Given the description of an element on the screen output the (x, y) to click on. 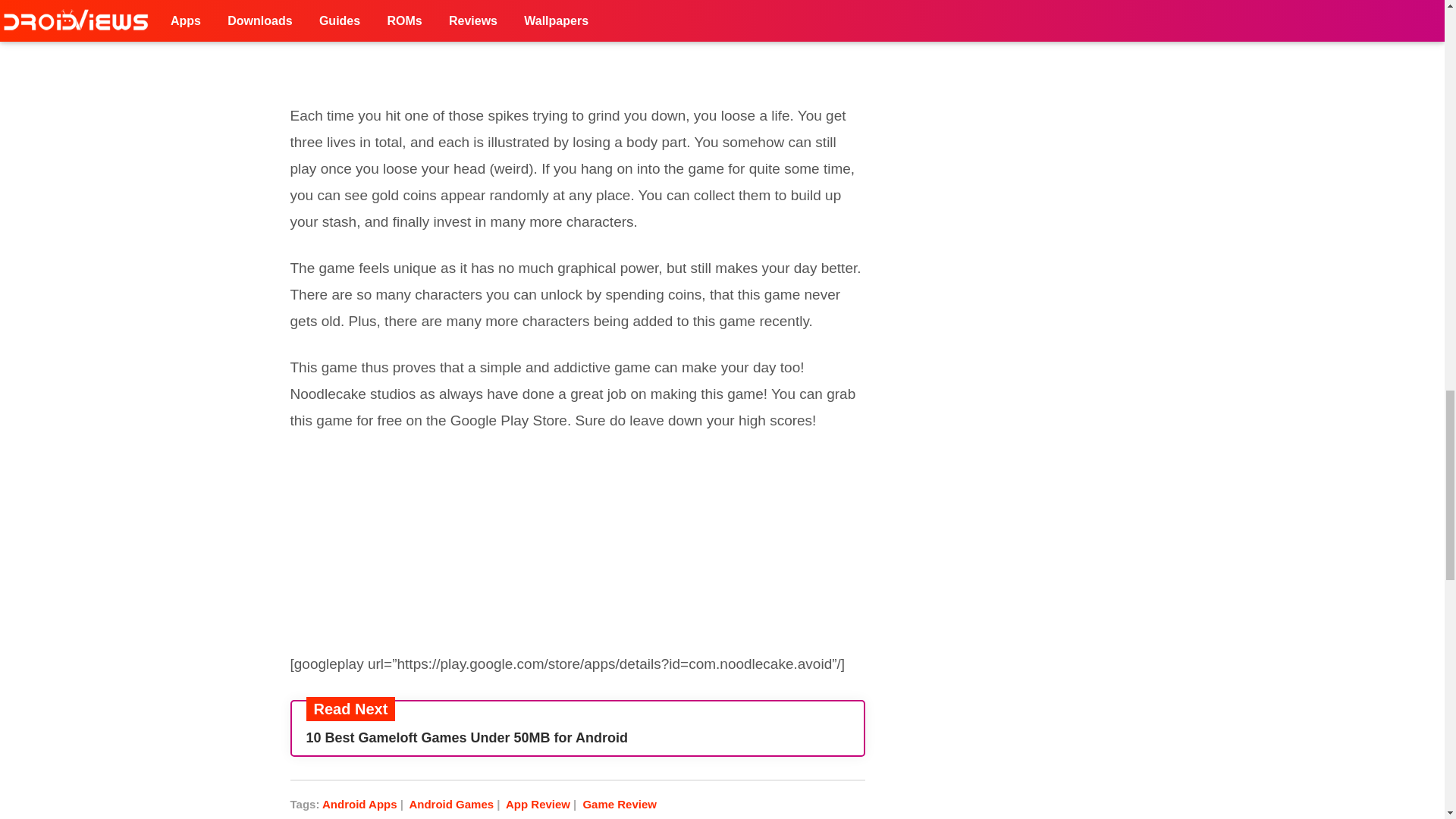
Android Apps (363, 803)
App Review (542, 803)
Game Review (619, 803)
Android Games (455, 803)
10 Best Gameloft Games Under 50MB for Android (576, 737)
